Given the description of an element on the screen output the (x, y) to click on. 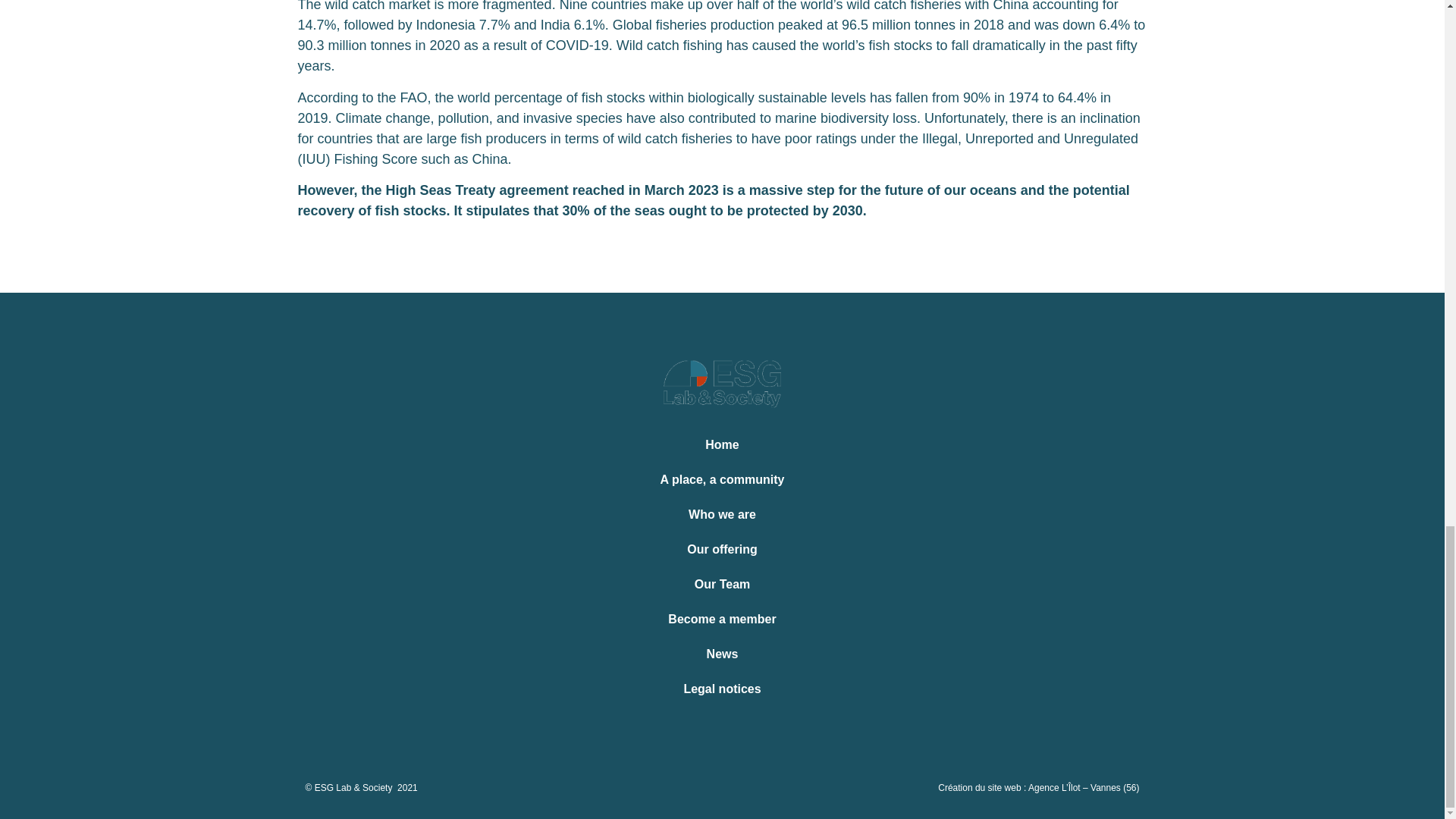
A place, a community (722, 479)
News (722, 654)
Become a member (722, 619)
Home (722, 444)
Who we are (722, 514)
Our Team (722, 584)
Legal notices (722, 688)
Our offering (722, 549)
